Given the description of an element on the screen output the (x, y) to click on. 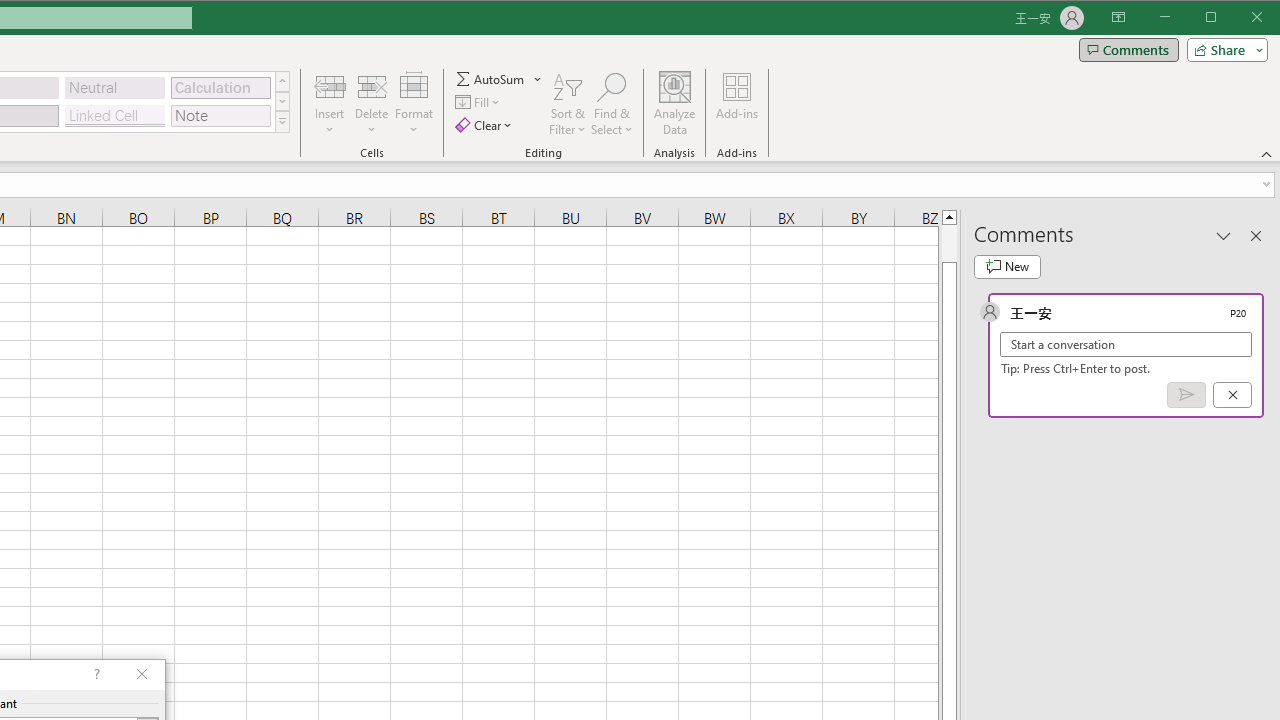
Delete (371, 104)
Note (220, 116)
Cell Styles (282, 121)
Post comment (Ctrl + Enter) (1186, 395)
Linked Cell (114, 116)
Cancel (1232, 395)
